Given the description of an element on the screen output the (x, y) to click on. 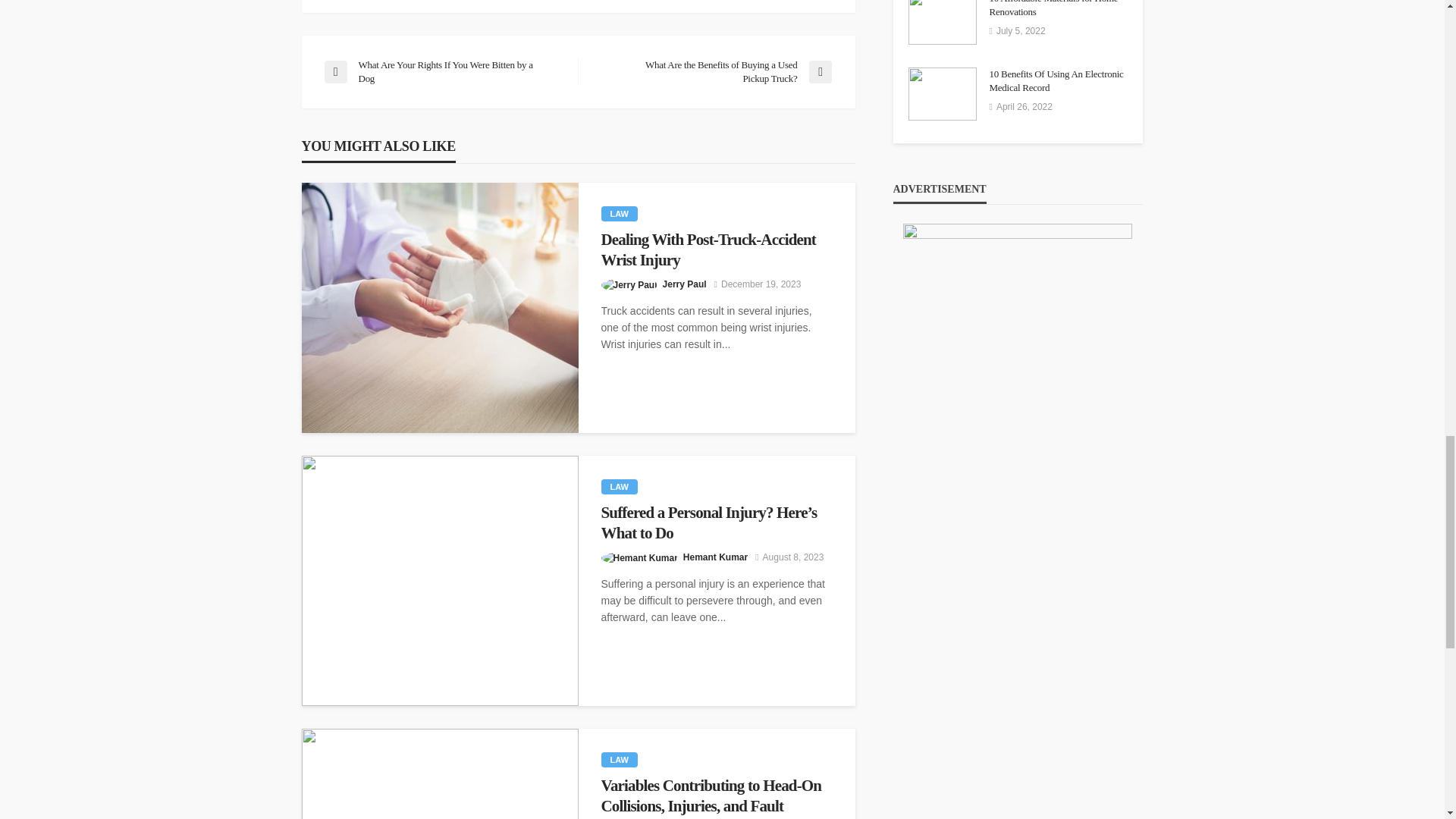
Law (618, 213)
What Are Your Rights If You Were Bitten by a Dog (443, 71)
LAW (618, 213)
What Are Your Rights If You Were Bitten by a Dog (443, 71)
Dealing With Post-Truck-Accident Wrist Injury (715, 250)
What Are the Benefits of Buying a Used Pickup Truck? (711, 71)
What Are the Benefits of Buying a Used Pickup Truck? (711, 71)
Law (618, 486)
Dealing With Post-Truck-Accident Wrist Injury (439, 307)
